Given the description of an element on the screen output the (x, y) to click on. 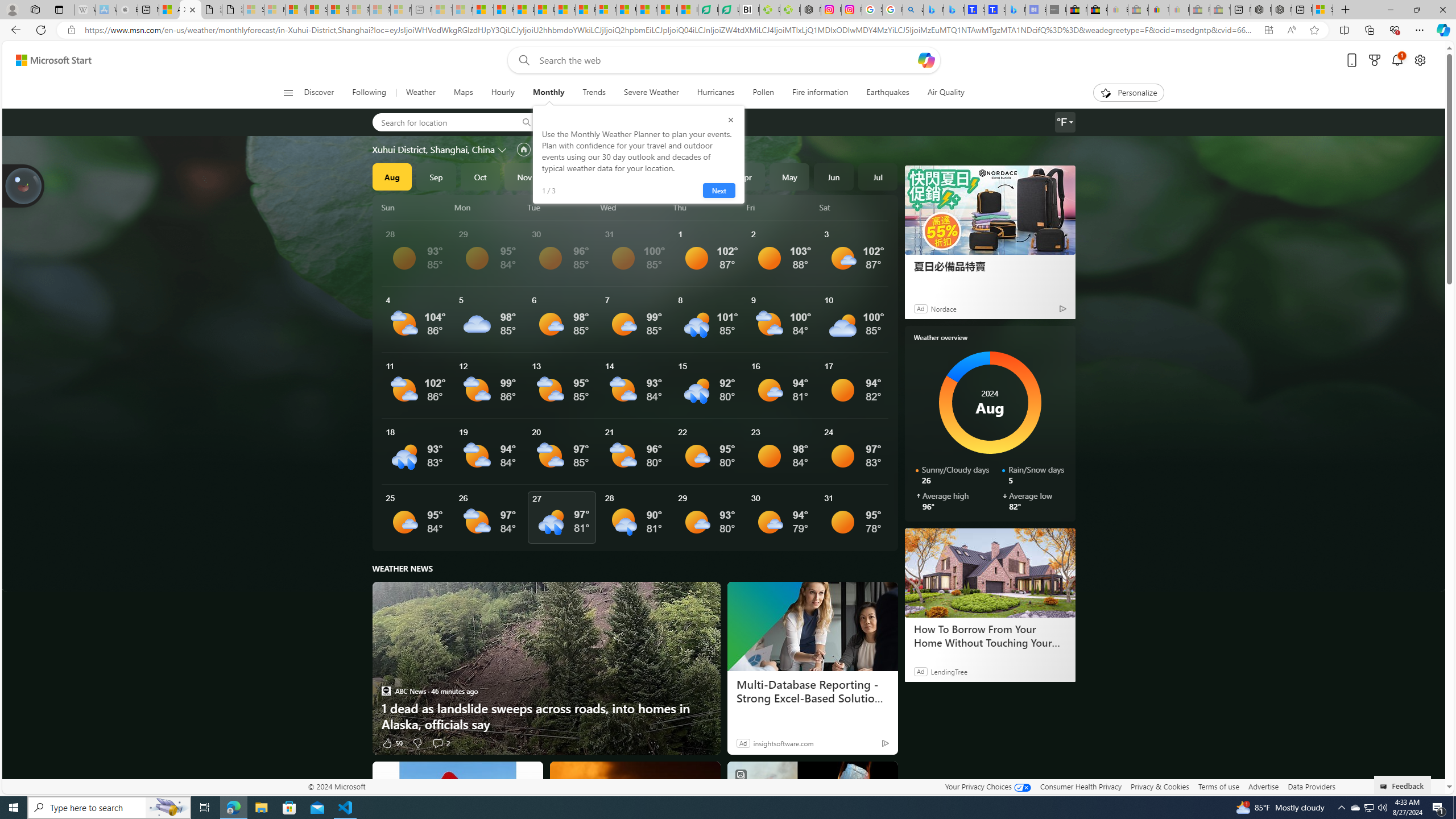
2025 Jan (612, 176)
Mon (489, 207)
Data Providers (1311, 785)
Apr (745, 176)
May (789, 176)
Microsoft Bing Travel - Shangri-La Hotel Bangkok (1015, 9)
